Given the description of an element on the screen output the (x, y) to click on. 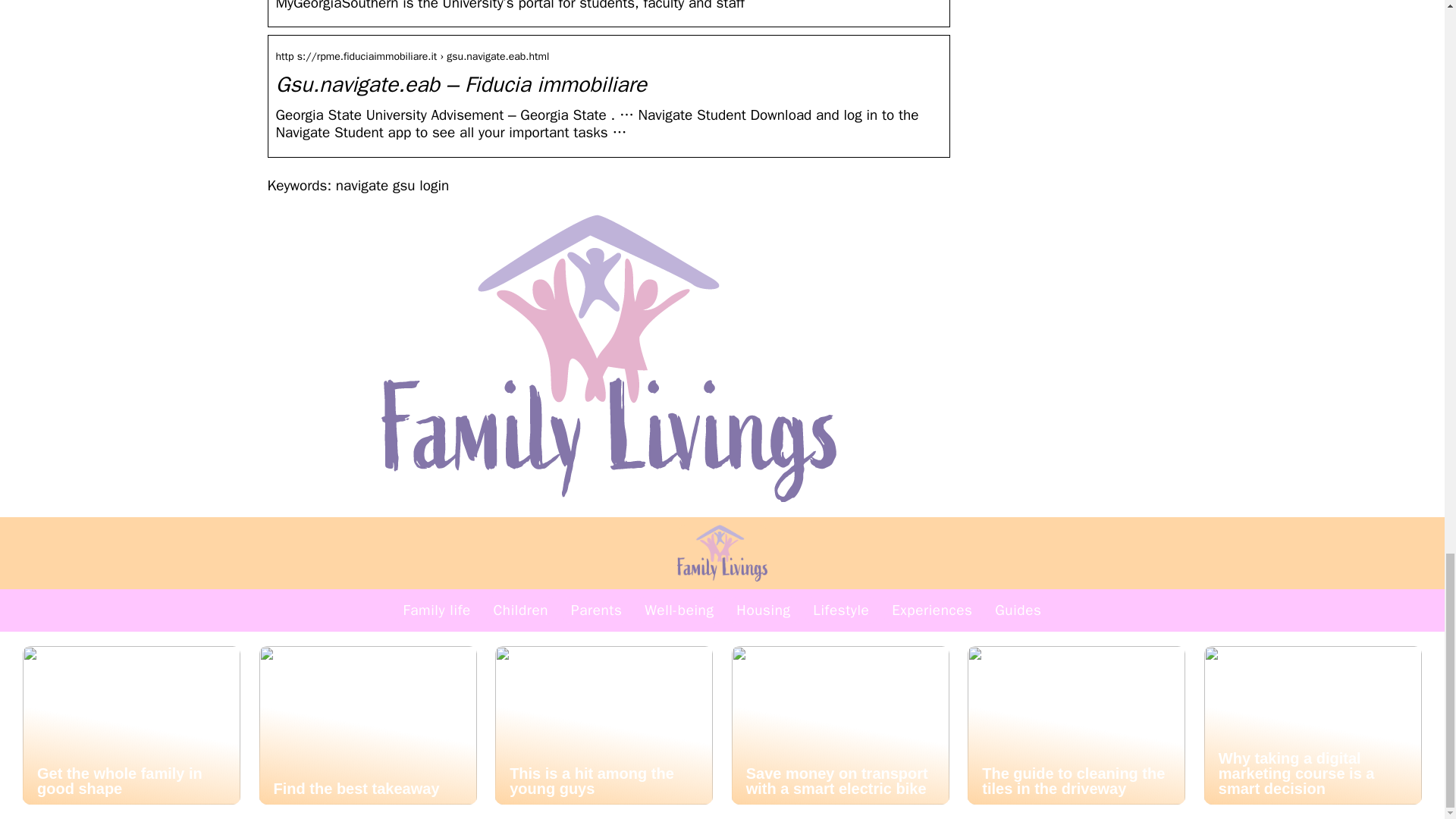
Family life (436, 610)
Well-being (679, 610)
Housing (763, 610)
Lifestyle (840, 610)
Children (520, 610)
Experiences (931, 610)
Parents (596, 610)
